Given the description of an element on the screen output the (x, y) to click on. 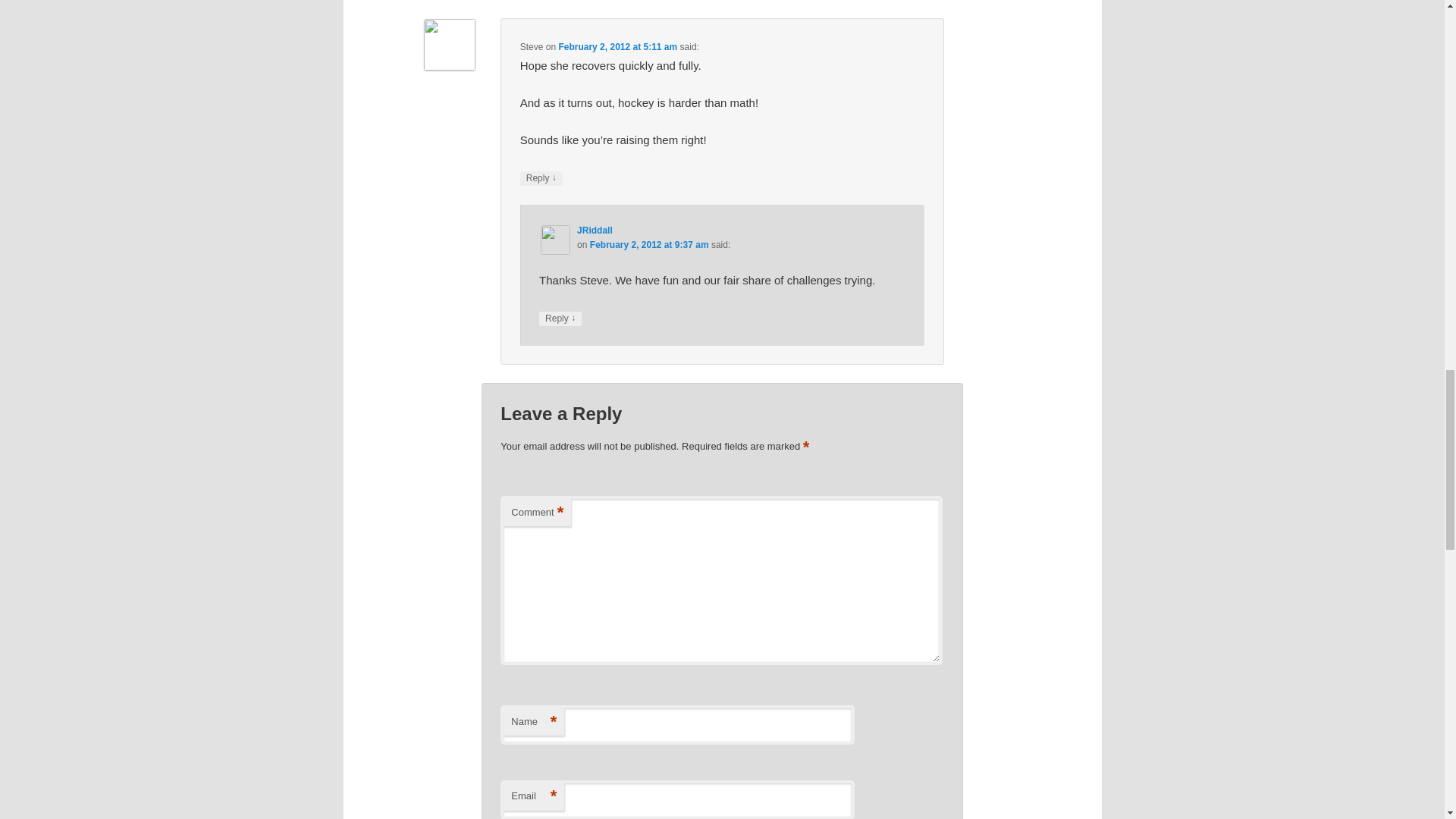
JRiddall (594, 230)
February 2, 2012 at 9:37 am (649, 244)
February 2, 2012 at 5:11 am (617, 46)
